Given the description of an element on the screen output the (x, y) to click on. 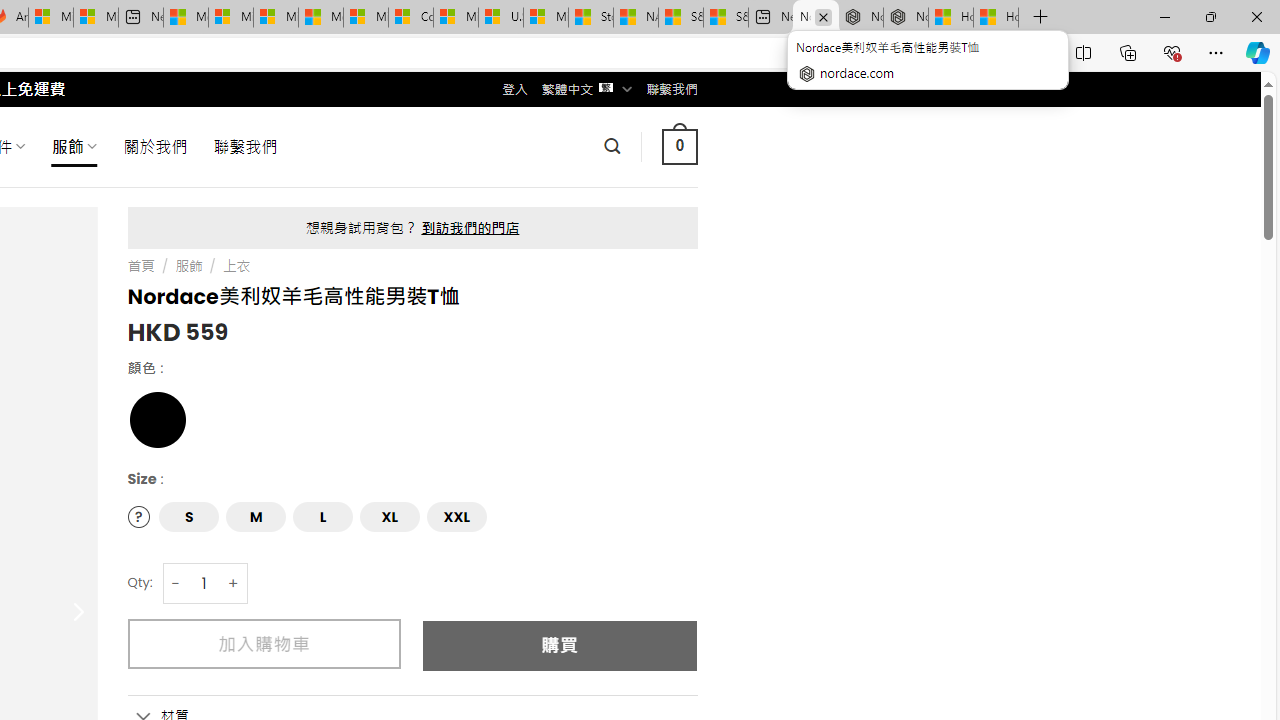
This site has coupons! Shopping in Microsoft Edge (950, 53)
? (137, 515)
Split screen (1083, 52)
Microsoft account | Home (275, 17)
Settings and more (Alt+F) (1215, 52)
